Given the description of an element on the screen output the (x, y) to click on. 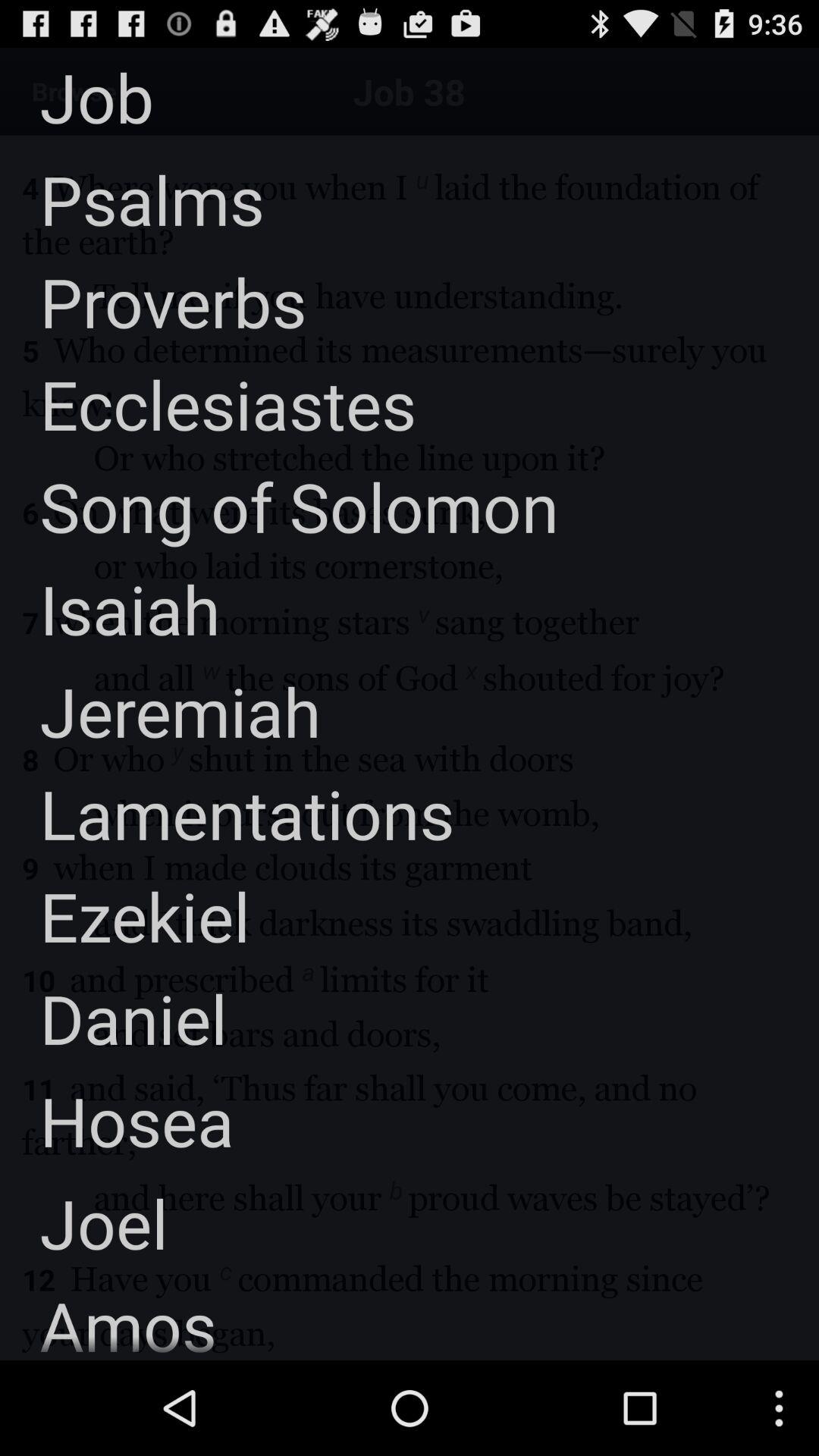
launch the item above the ezekiel icon (227, 813)
